Given the description of an element on the screen output the (x, y) to click on. 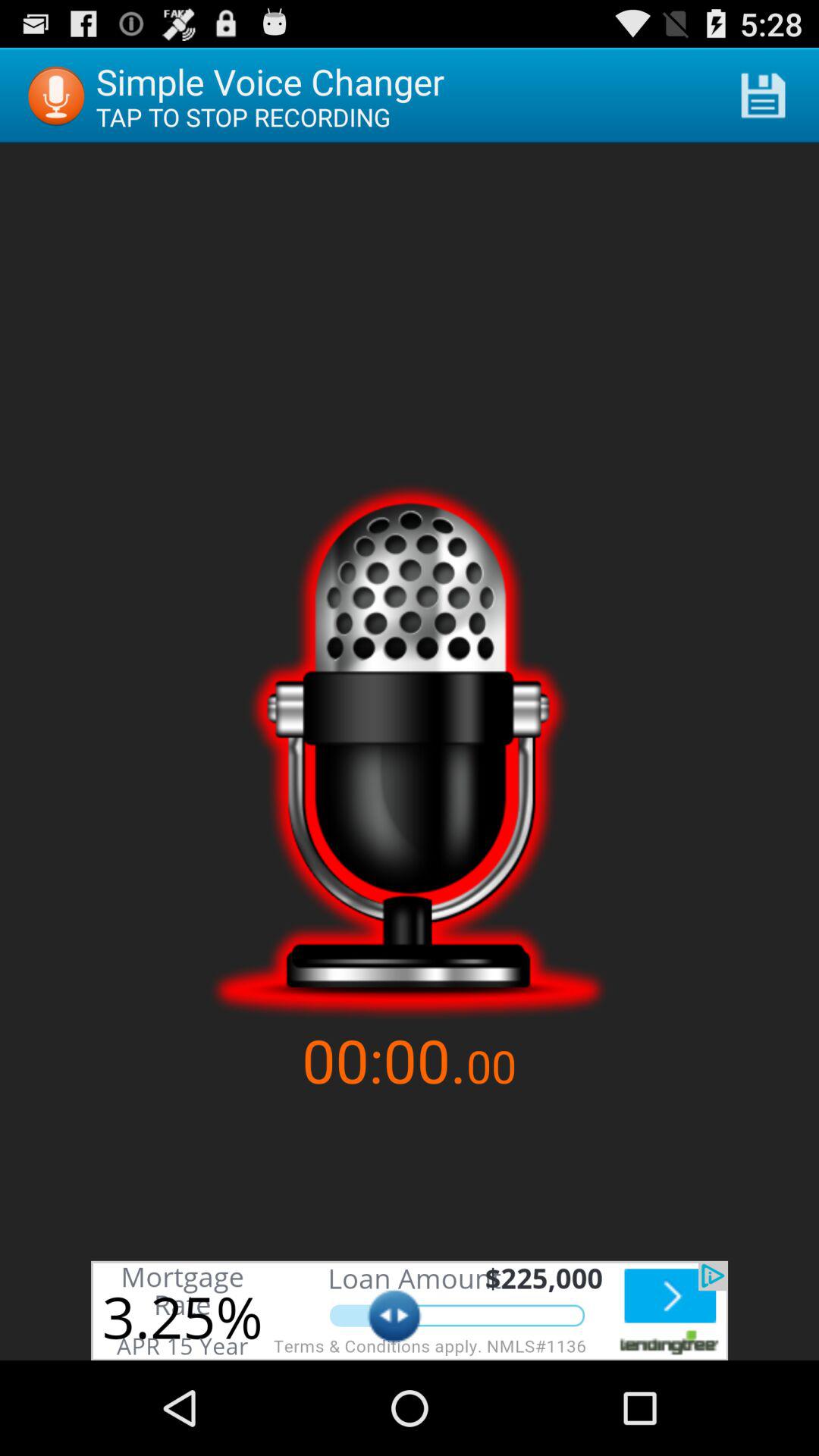
record (408, 751)
